Given the description of an element on the screen output the (x, y) to click on. 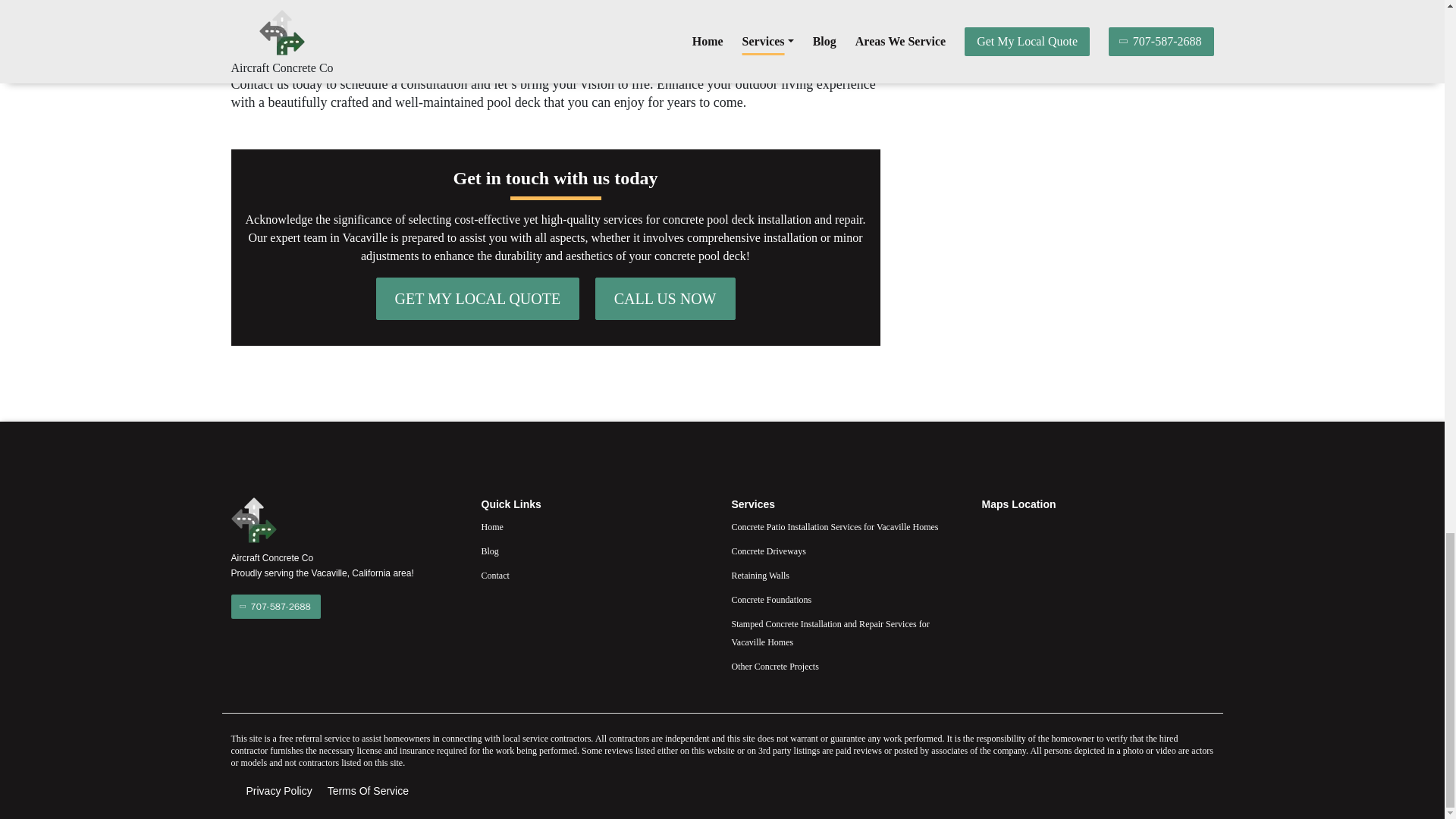
GET MY LOCAL QUOTE (477, 298)
CALL US NOW (665, 298)
